Given the description of an element on the screen output the (x, y) to click on. 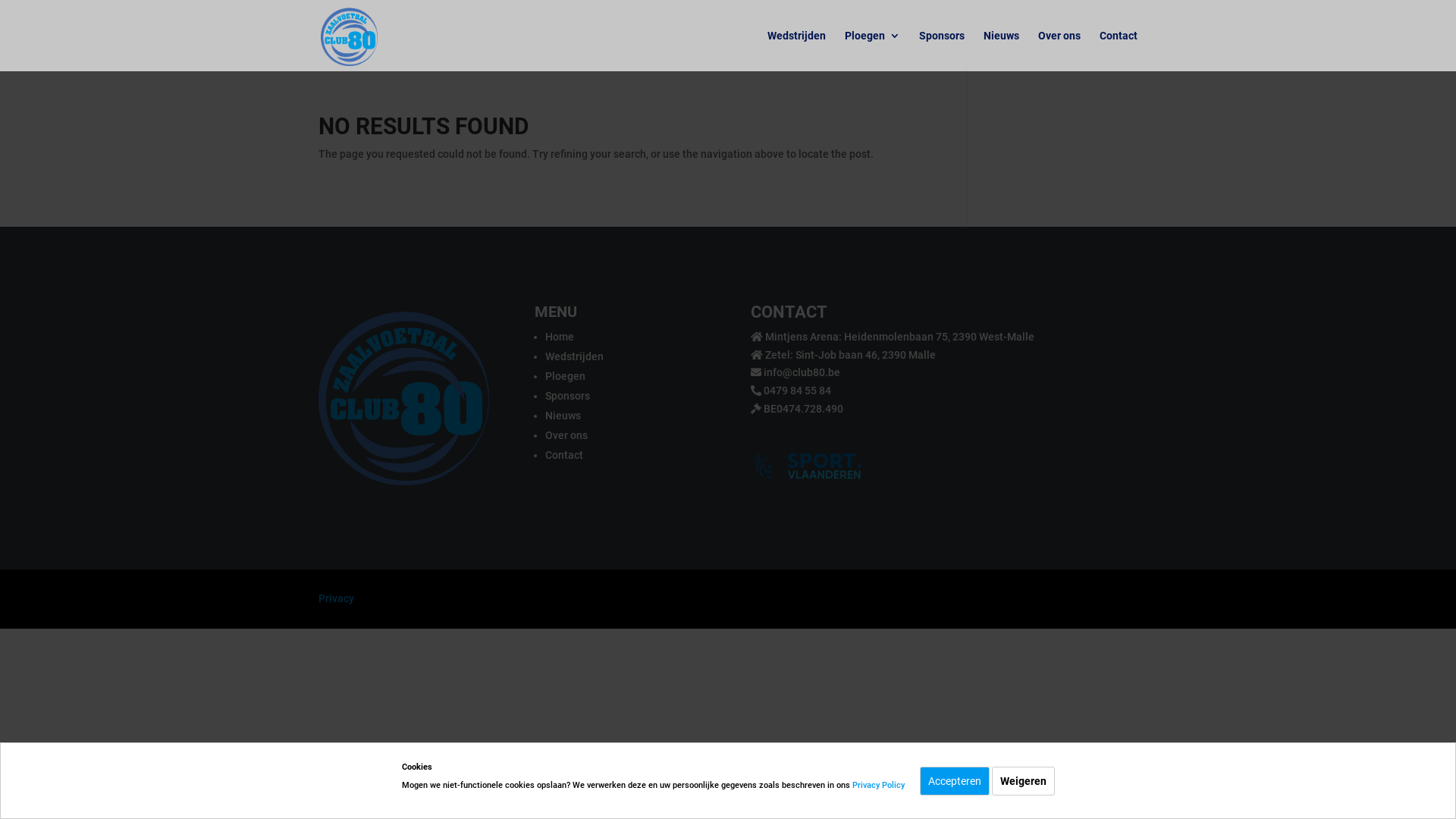
Ploegen Element type: text (565, 376)
Sponsors Element type: text (567, 395)
Wedstrijden Element type: text (574, 356)
Over ons Element type: text (1059, 50)
Privacy Policy Element type: text (878, 785)
Home Element type: text (559, 336)
Weigeren Element type: text (1022, 780)
Sponsors Element type: text (941, 50)
Ploegen Element type: text (872, 50)
Nieuws Element type: text (562, 415)
Contact Element type: text (564, 454)
Privacy Element type: text (336, 598)
Zaalvoetbal_Club_80 Element type: hover (403, 394)
Wedstrijden Element type: text (796, 50)
Accepteren Element type: text (953, 780)
V1_SUBSIDIE_OGO_SPORT.VLAANDEREN Element type: hover (807, 466)
Nieuws Element type: text (1001, 50)
Contact Element type: text (1118, 50)
Over ons Element type: text (566, 435)
